Given the description of an element on the screen output the (x, y) to click on. 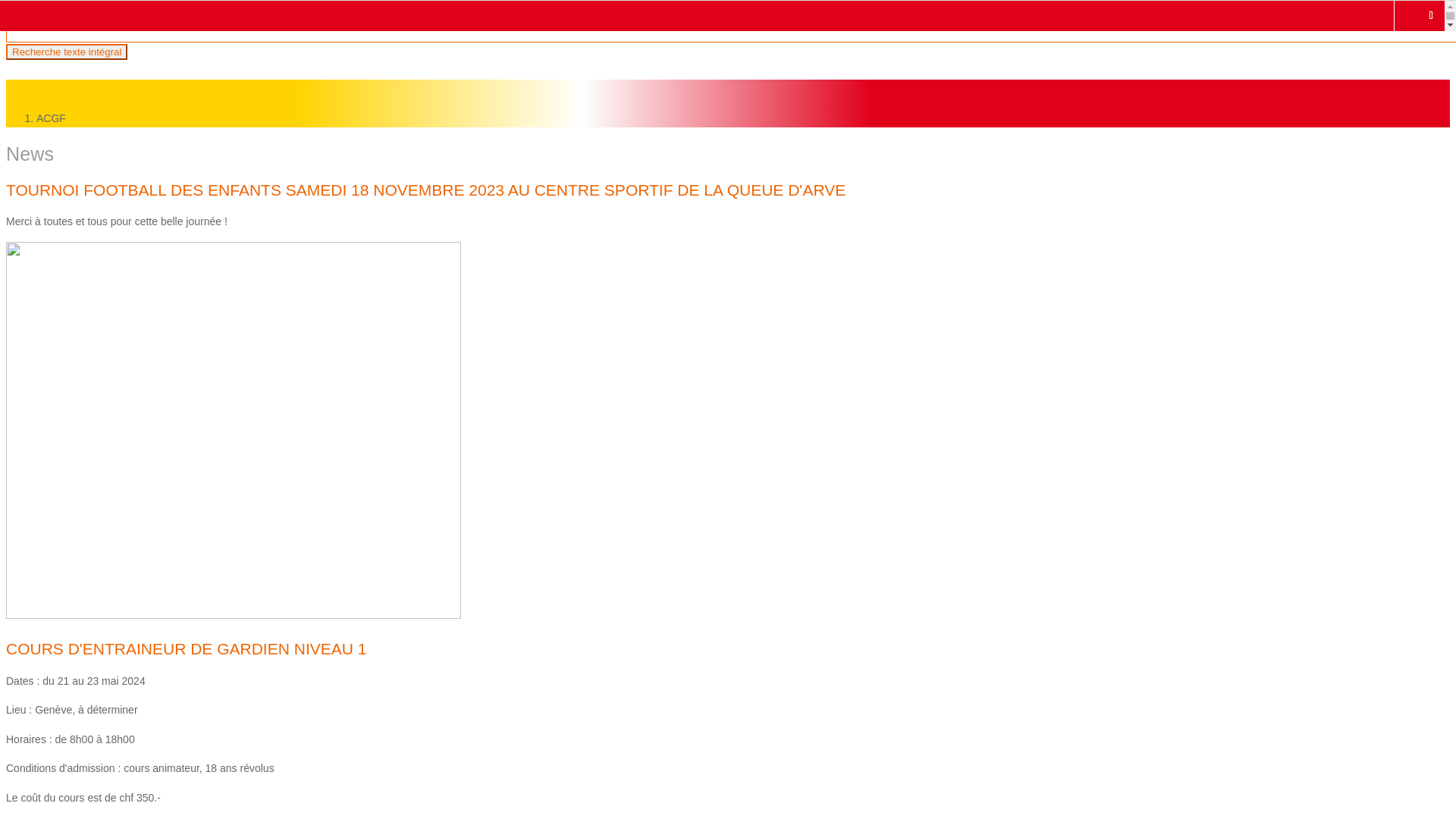
Championnat Element type: text (122, 552)
Fairplay Element type: text (79, 774)
Tournois Element type: text (111, 366)
Association Element type: text (87, 87)
Documents Element type: text (117, 385)
Cours nationaux Element type: text (129, 645)
Tournoi scolaire Element type: text (97, 589)
Football de juniors Element type: text (103, 403)
200 questions lois du jeu Element type: text (149, 756)
service de piquet / permanences Element type: text (167, 254)
Championnat Element type: text (122, 477)
Documents Element type: text (117, 199)
Arbitre Element type: text (75, 664)
Football des enfants Element type: text (108, 329)
Futsal Element type: text (74, 515)
ACGF Element type: text (44, 69)
Footeco Element type: text (79, 496)
Matches sans arbitres Element type: text (142, 719)
Tournois sans arbitres Element type: text (142, 738)
Contact Element type: text (109, 218)
BRACK.CH PLAY MORE FOOTBALL Element type: text (179, 348)
Clubs Element type: text (104, 162)
Cours Element type: text (105, 700)
News Archives Element type: text (125, 125)
Communications officielles Element type: text (153, 144)
Commissions Element type: text (122, 236)
Championnat / Coupe Element type: text (142, 292)
Info Element type: text (99, 106)
Calendrier Element type: text (115, 180)
Tournois Element type: text (111, 310)
